Given the description of an element on the screen output the (x, y) to click on. 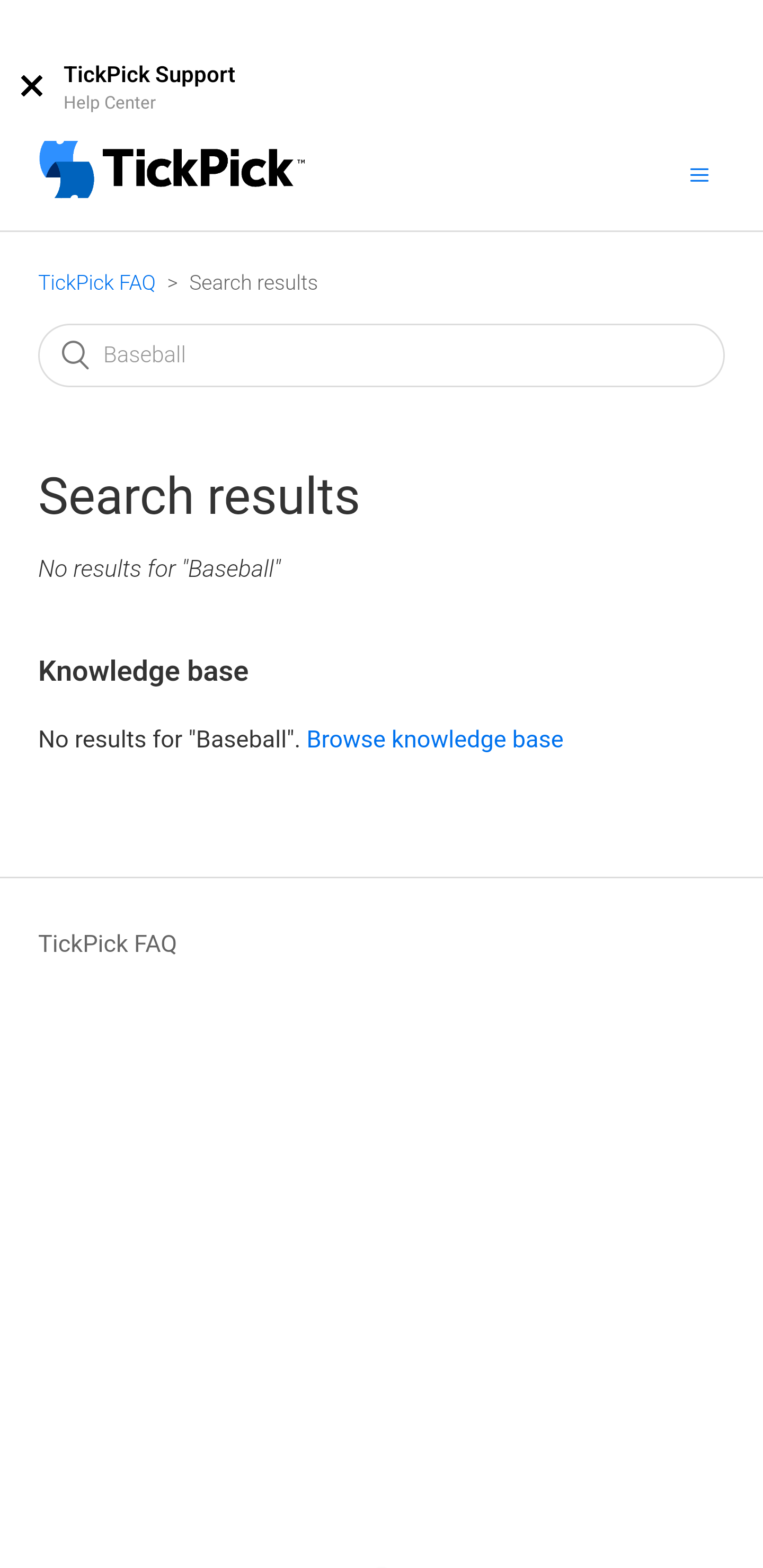
TickPick FAQ Help Center home page (171, 171)
Toggle navigation menu (698, 173)
TickPick FAQ (96, 282)
Baseball (381, 355)
Browse knowledge base (434, 738)
TickPick FAQ (107, 943)
